Given the description of an element on the screen output the (x, y) to click on. 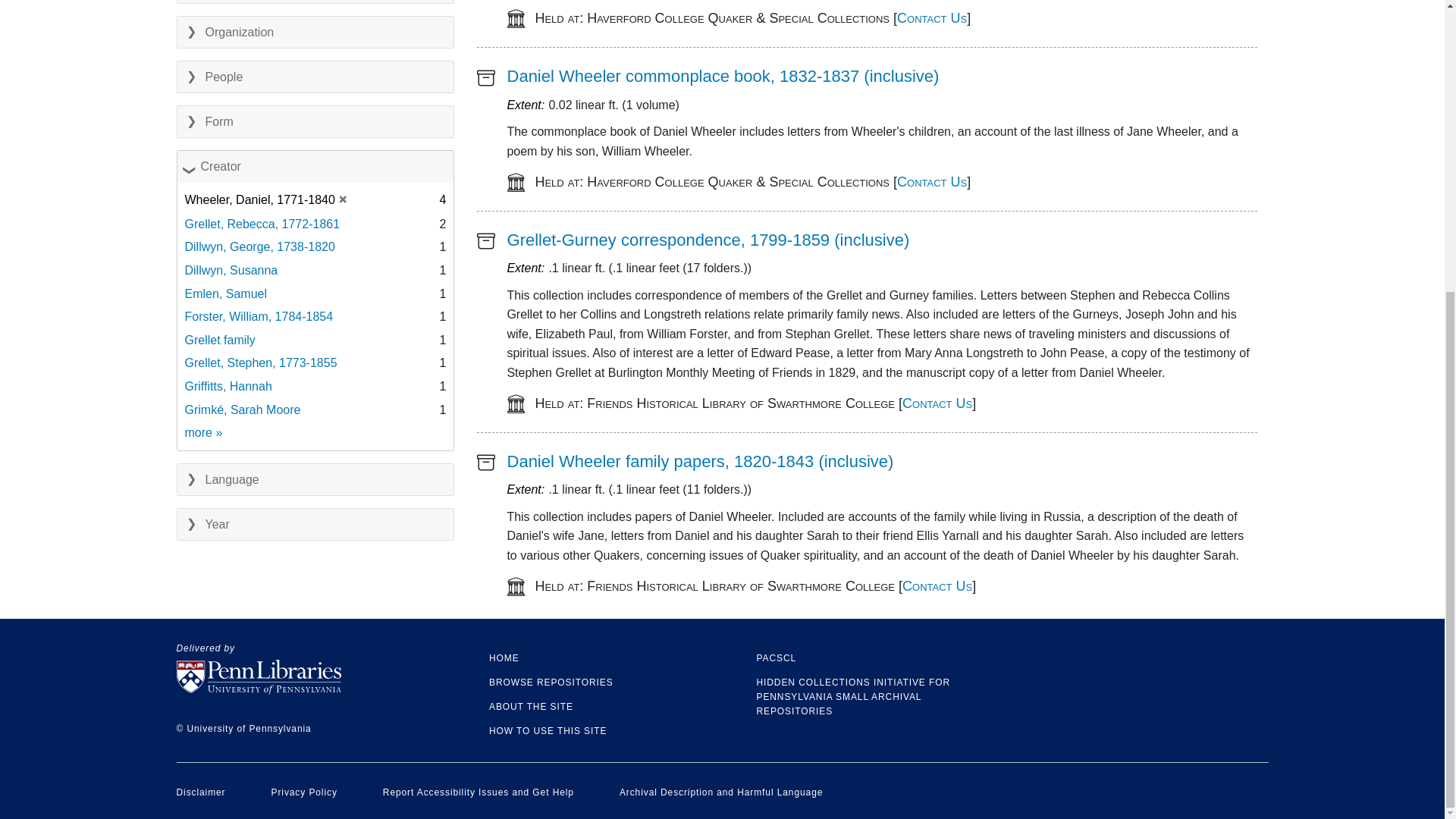
Subject (315, 1)
Contact Us (931, 17)
Contact Us (937, 585)
Contact Us (931, 181)
Contact Us (937, 403)
